Given the description of an element on the screen output the (x, y) to click on. 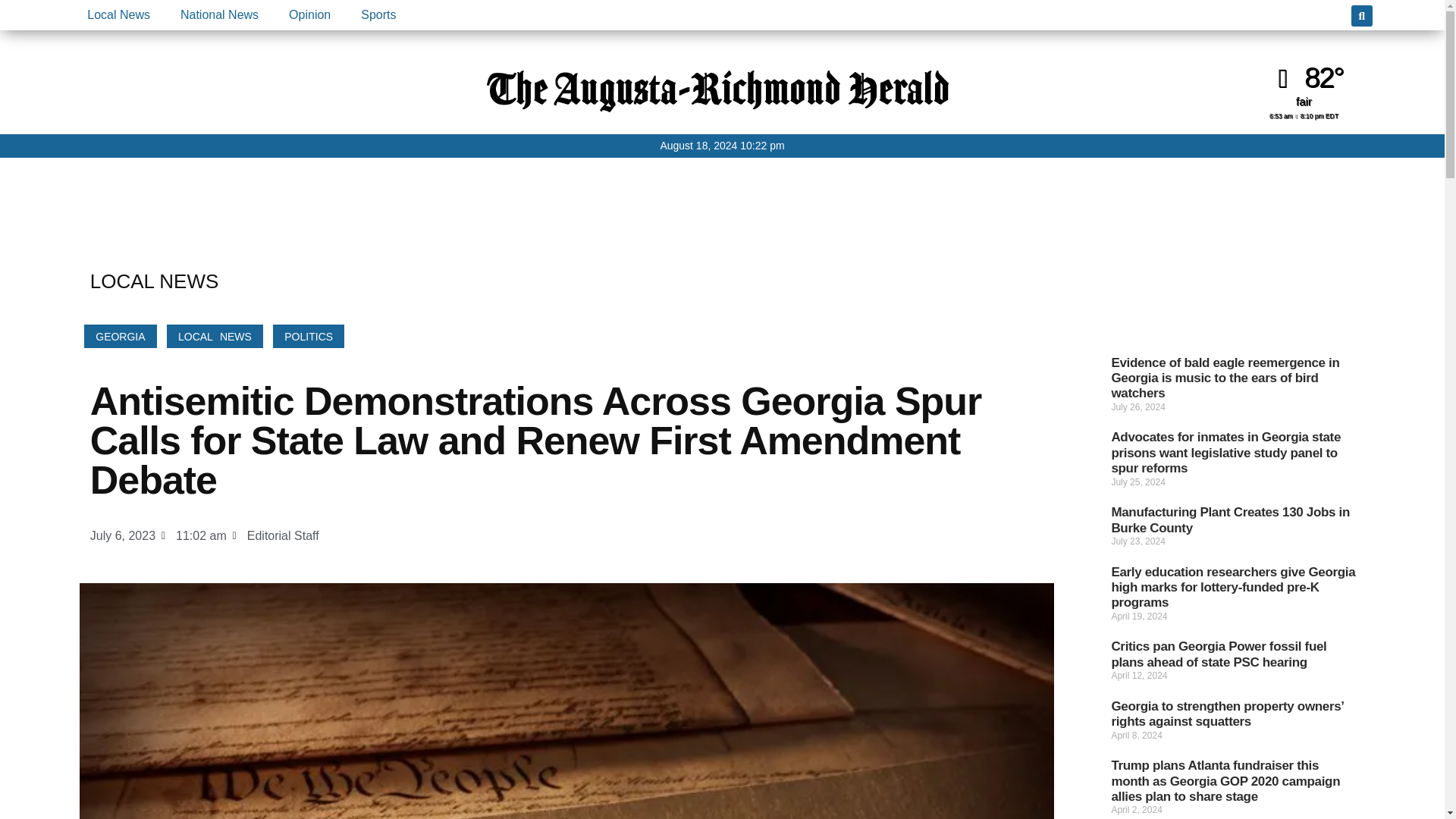
Sports (378, 14)
Manufacturing Plant Creates 130 Jobs in Burke County (1229, 519)
Local News (118, 14)
POLITICS (308, 336)
Opinion (309, 14)
